Given the description of an element on the screen output the (x, y) to click on. 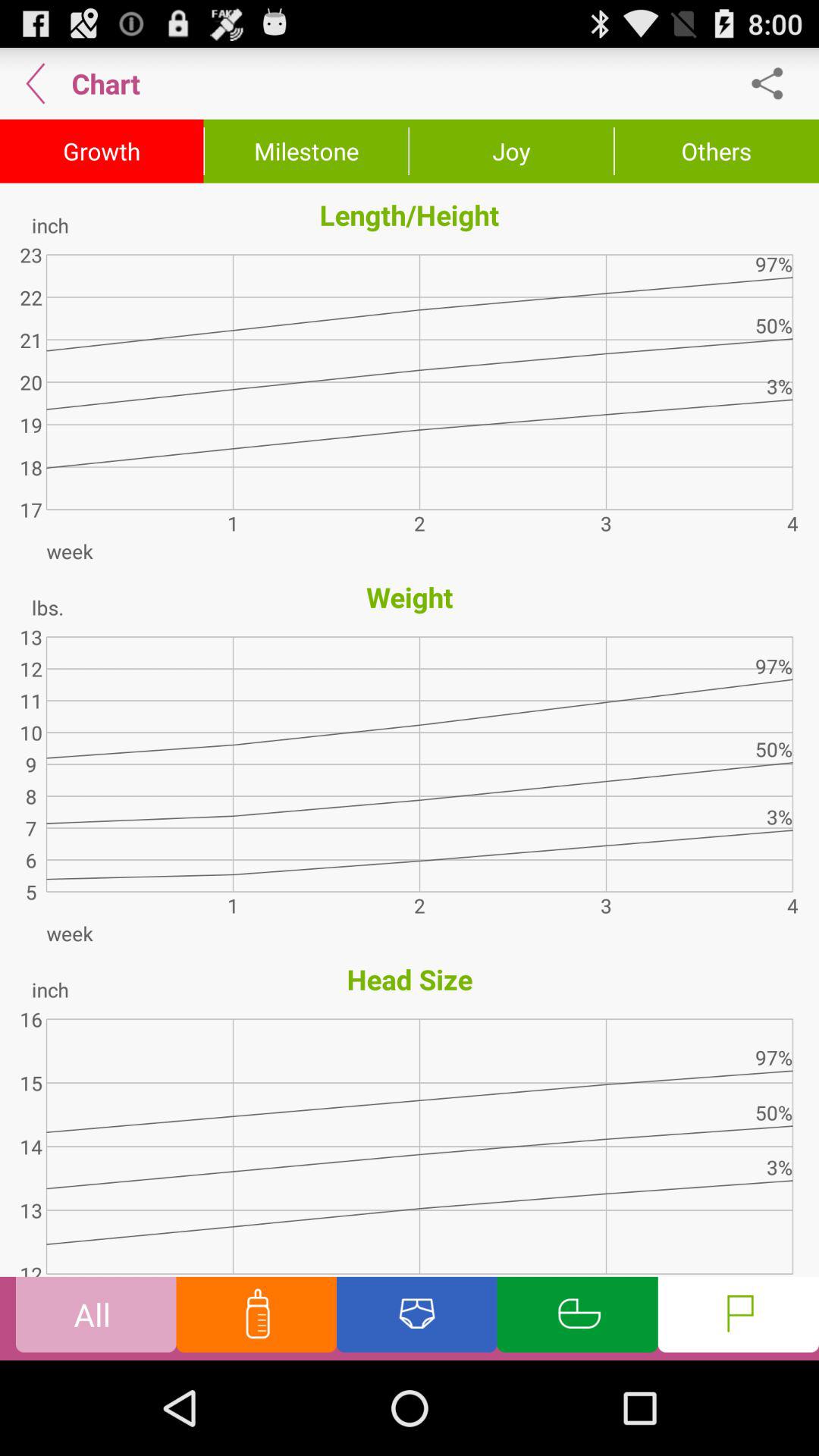
diaper log (416, 1318)
